Given the description of an element on the screen output the (x, y) to click on. 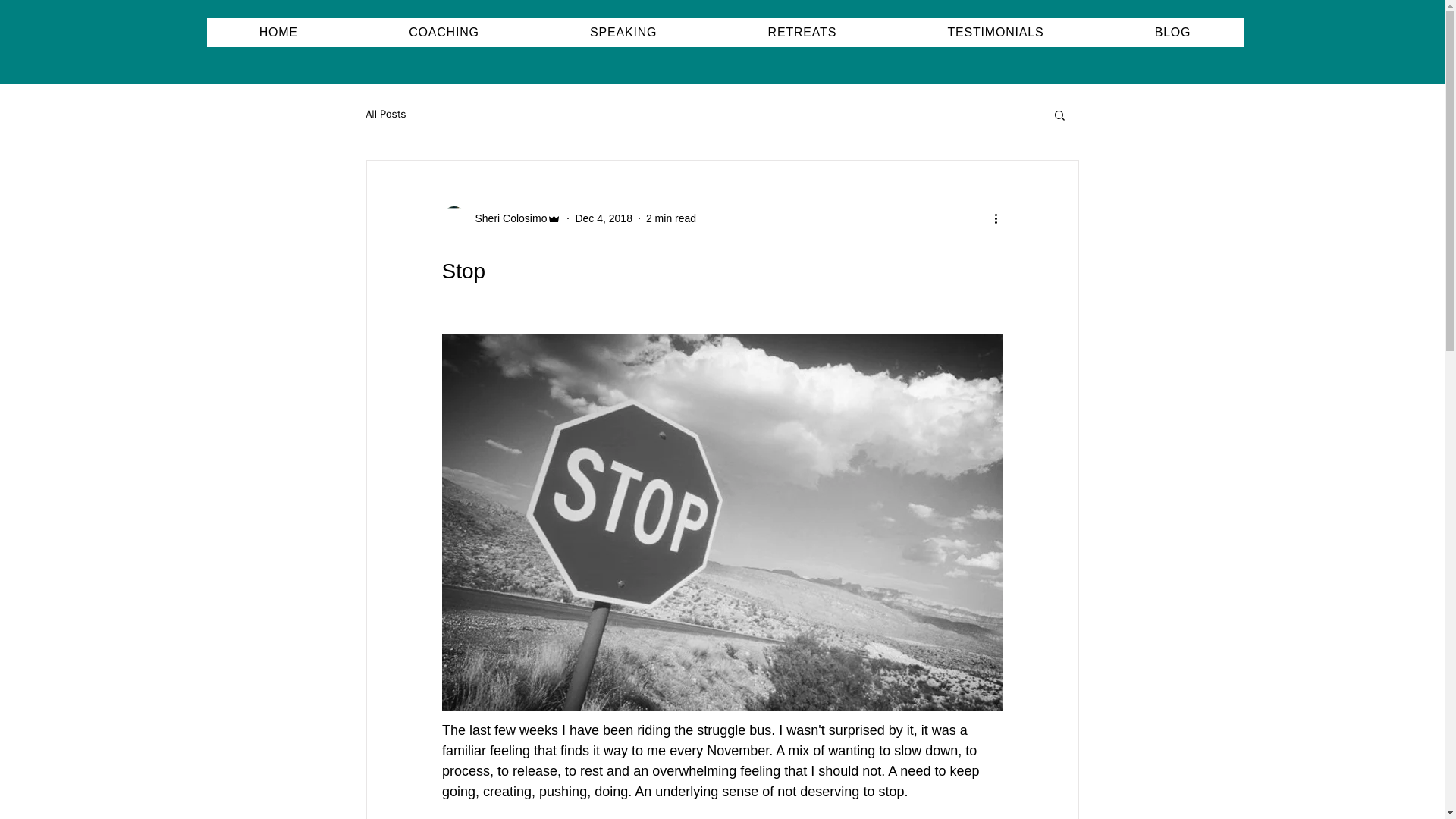
COACHING (443, 32)
HOME (278, 32)
Dec 4, 2018 (603, 218)
2 min read (670, 218)
Sheri Colosimo (500, 218)
SPEAKING (623, 32)
BLOG (1172, 32)
Sheri Colosimo (506, 218)
All Posts (385, 114)
RETREATS (801, 32)
